Given the description of an element on the screen output the (x, y) to click on. 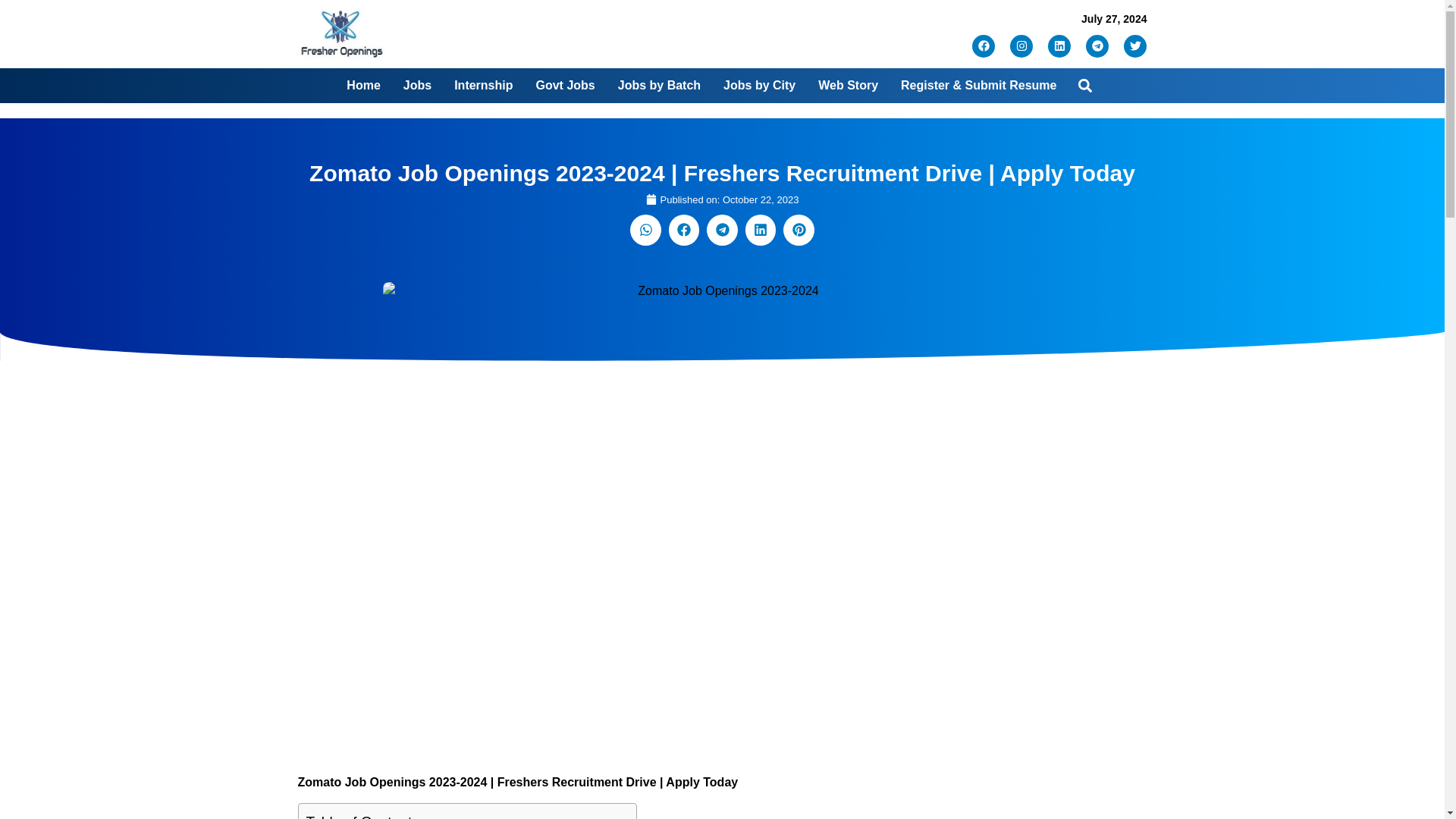
Govt Jobs (564, 85)
Web Story (847, 85)
Jobs by Batch (658, 85)
Jobs by City (758, 85)
Jobs (416, 85)
Home (363, 85)
Internship (483, 85)
